Given the description of an element on the screen output the (x, y) to click on. 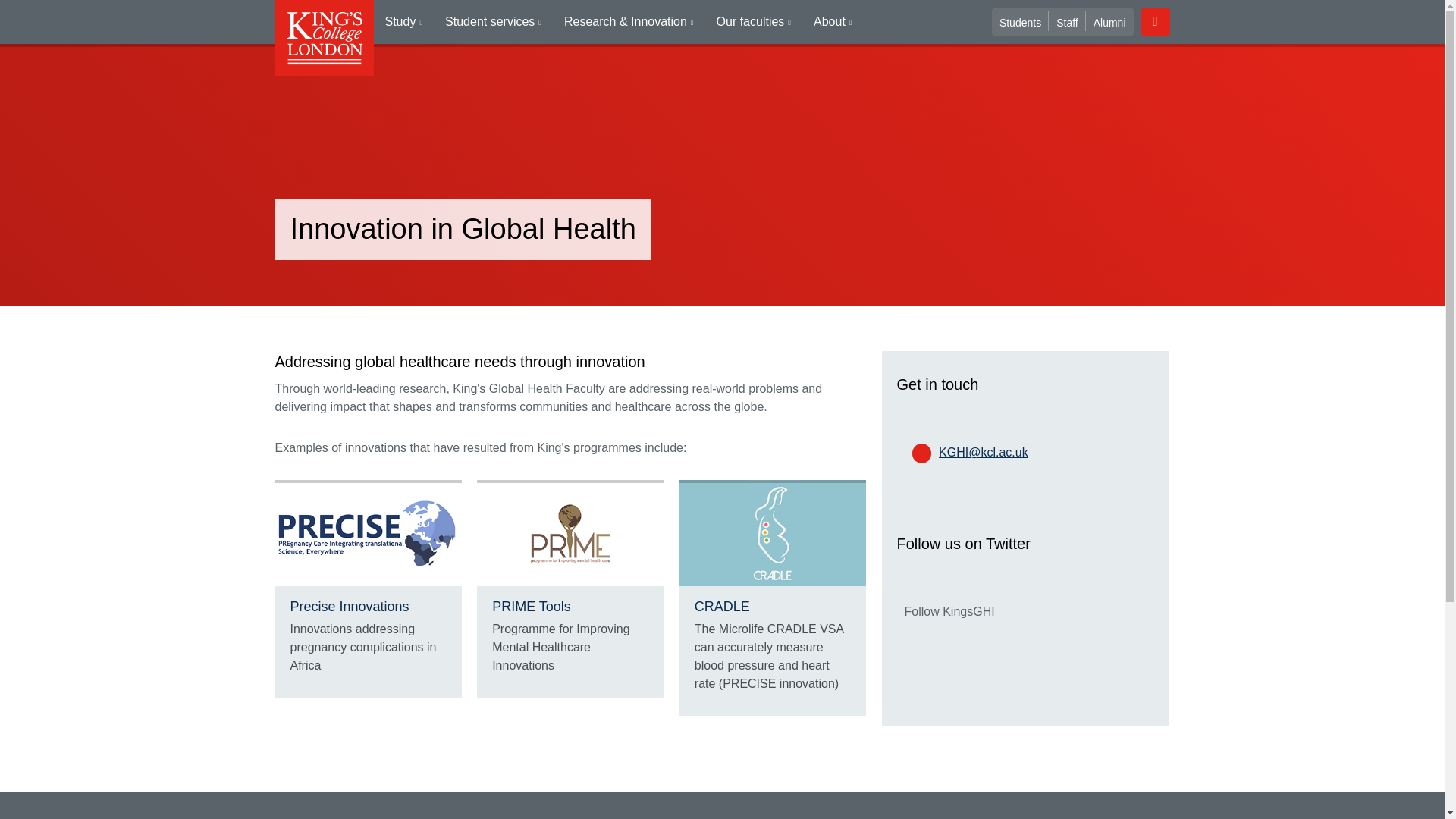
Student services (493, 22)
King's College London - Back to homepage (323, 38)
Student services (493, 22)
Study (402, 22)
King's College London (323, 38)
Study (402, 22)
Our faculties (753, 22)
